Given the description of an element on the screen output the (x, y) to click on. 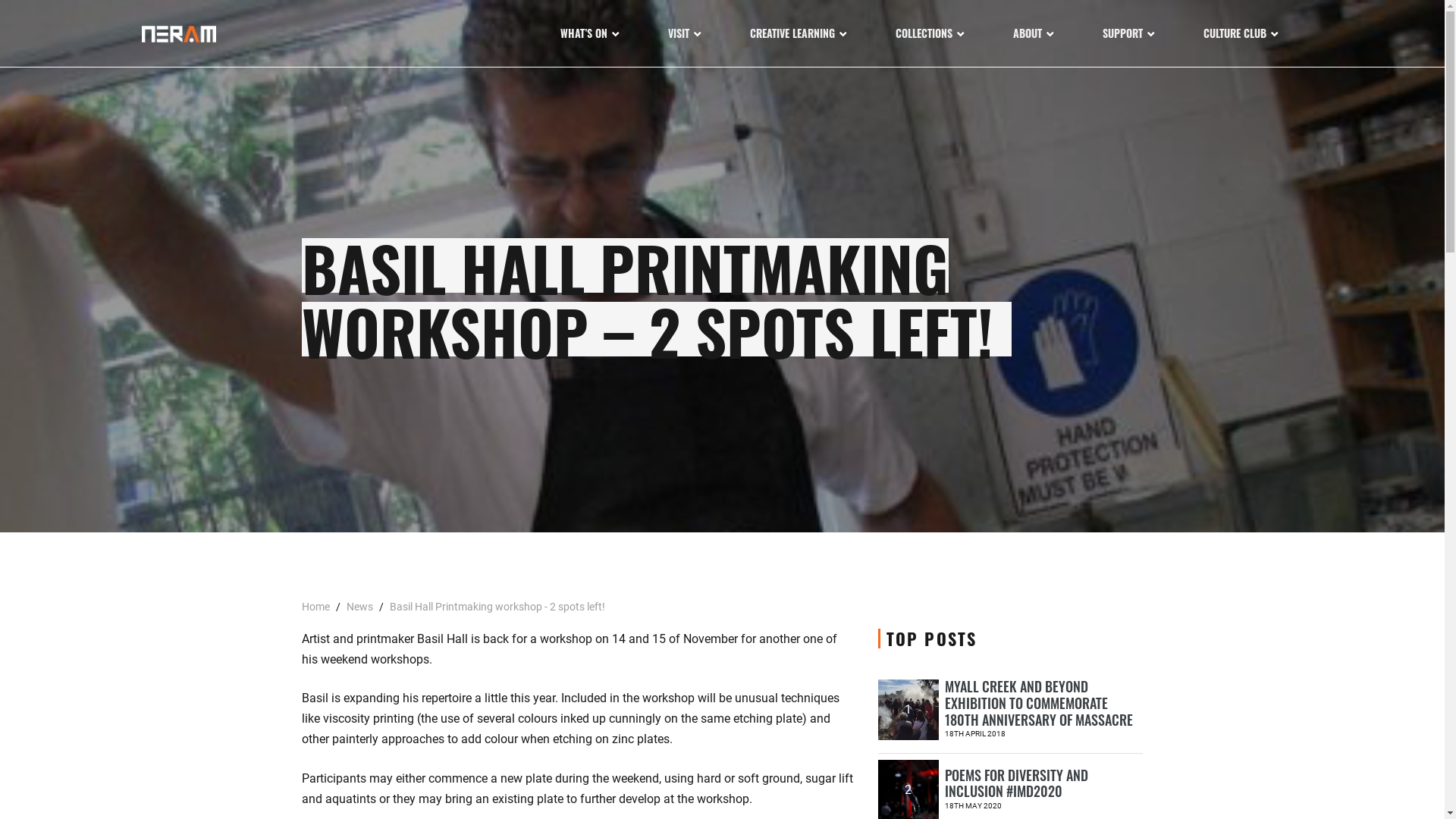
Basil Hall Printmaking workshop - 2 spots left! Element type: text (497, 606)
CULTURE CLUB Element type: text (1240, 33)
SUPPORT Element type: text (1128, 33)
ABOUT Element type: text (1033, 33)
COLLECTIONS Element type: text (929, 33)
VISIT Element type: text (684, 33)
News Element type: text (359, 606)
Home Element type: text (316, 606)
CREATIVE LEARNING Element type: text (798, 33)
